Given the description of an element on the screen output the (x, y) to click on. 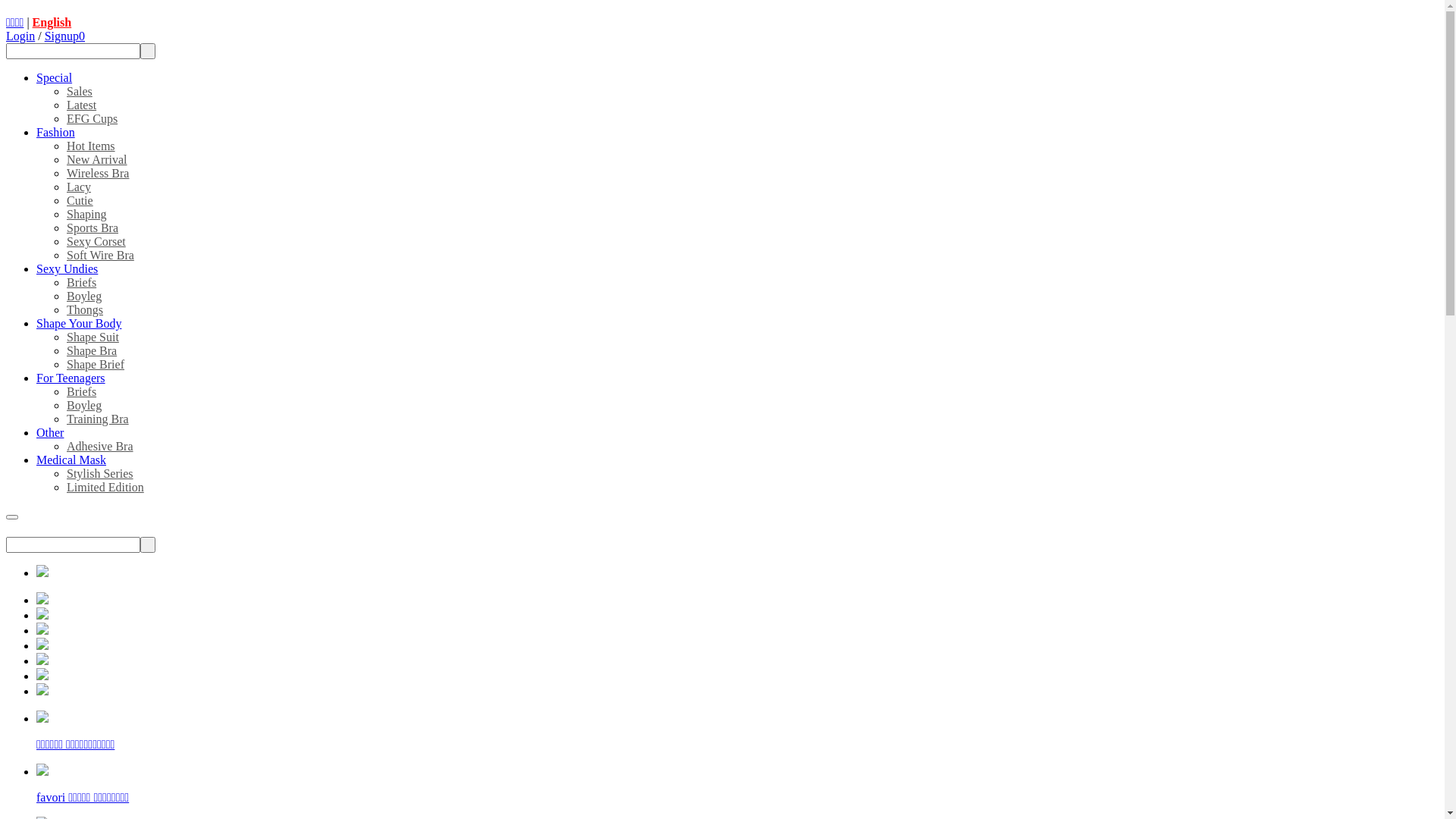
Shape Brief Element type: text (95, 363)
Login Element type: text (20, 35)
Wireless Bra Element type: text (97, 172)
Hot Items Element type: text (90, 145)
Boyleg Element type: text (83, 404)
0 Element type: text (81, 35)
Special Element type: text (54, 77)
Sexy Corset Element type: text (95, 241)
  Element type: text (147, 51)
Training Bra Element type: text (97, 418)
Cutie Element type: text (79, 200)
Sales Element type: text (79, 90)
Shape Suit Element type: text (92, 336)
New Arrival Element type: text (96, 159)
Briefs Element type: text (81, 391)
Sports Bra Element type: text (92, 227)
EFG Cups Element type: text (91, 118)
Soft Wire Bra Element type: text (100, 254)
Adhesive Bra Element type: text (99, 445)
Shaping Element type: text (86, 213)
Limited Edition Element type: text (105, 486)
Thongs Element type: text (84, 309)
Briefs Element type: text (81, 282)
Latest Element type: text (81, 104)
Lacy Element type: text (78, 186)
Medical Mask Element type: text (71, 459)
Stylish Series Element type: text (99, 473)
For Teenagers Element type: text (70, 377)
Fashion Element type: text (55, 131)
  Element type: text (147, 544)
Shape Your Body Element type: text (78, 322)
Shape Bra Element type: text (91, 350)
Other Element type: text (49, 432)
Sexy Undies Element type: text (66, 268)
Boyleg Element type: text (83, 295)
English Element type: text (52, 21)
Signup Element type: text (61, 35)
